Given the description of an element on the screen output the (x, y) to click on. 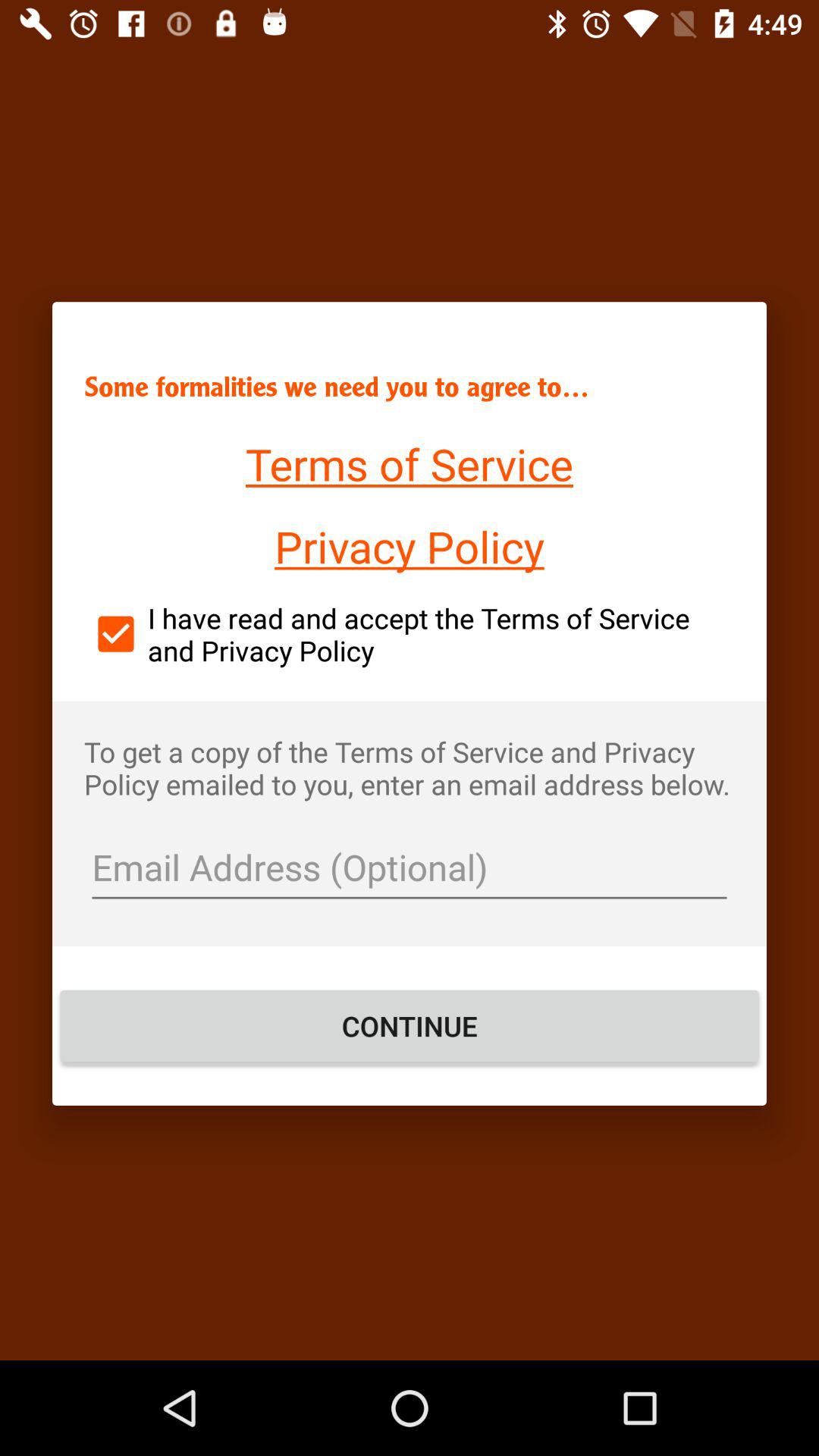
text field foe email address (409, 869)
